Given the description of an element on the screen output the (x, y) to click on. 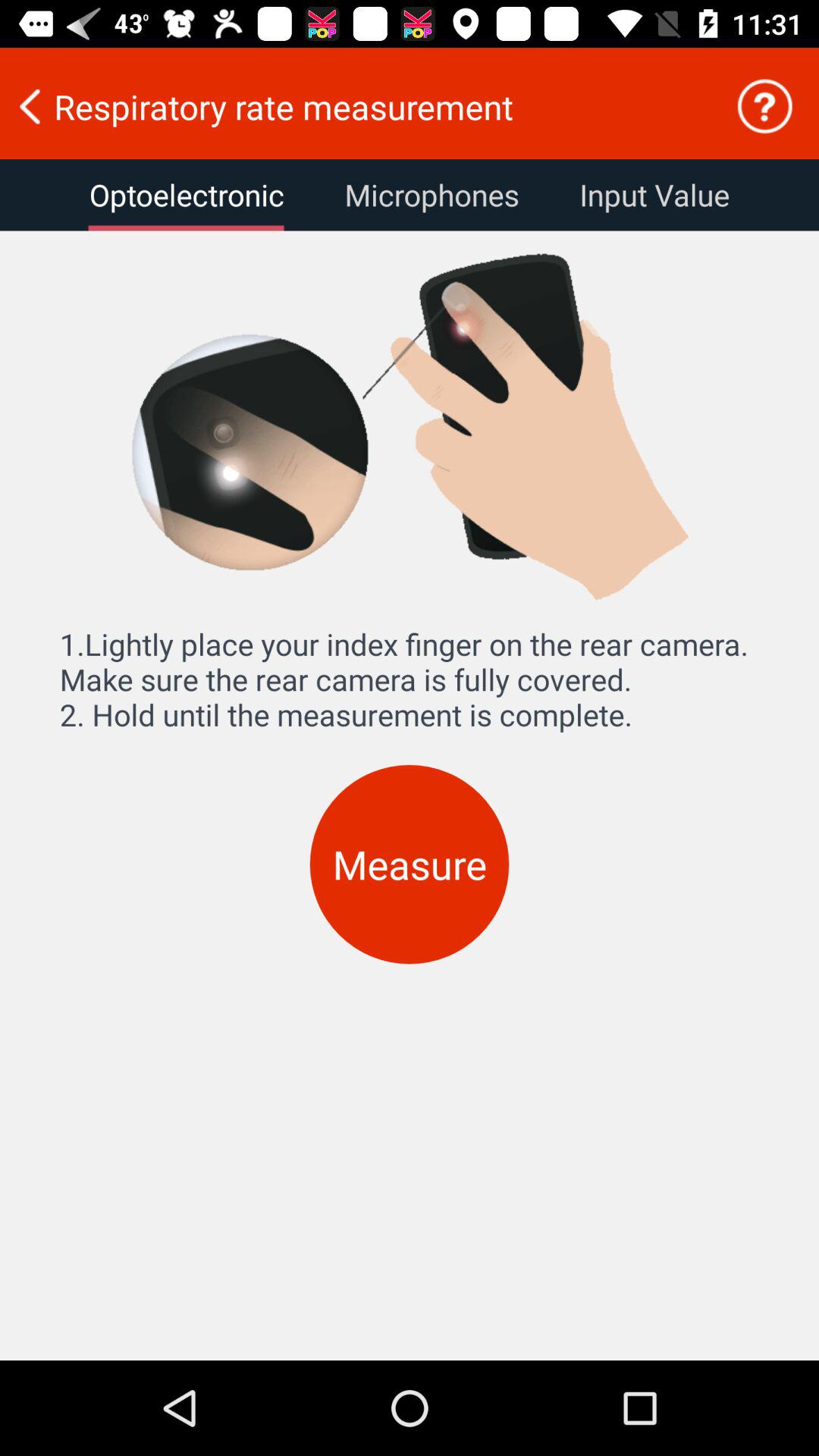
question mark (764, 106)
